Given the description of an element on the screen output the (x, y) to click on. 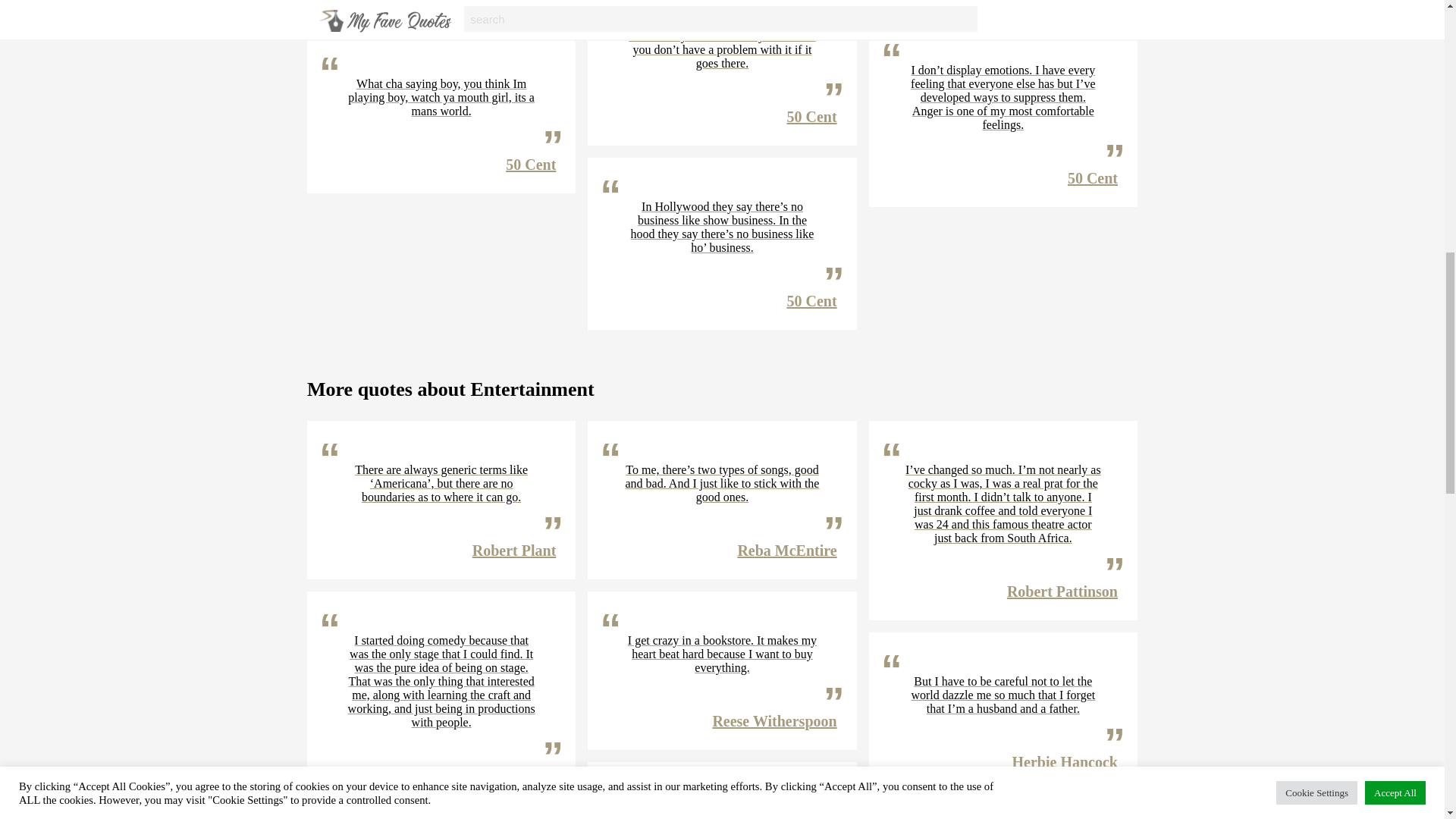
50 Cent (530, 1)
50 Cent (812, 300)
Robin Williams (505, 775)
Robert Plant (513, 550)
50 Cent (1092, 177)
50 Cent (812, 116)
50 Cent (530, 164)
